Given the description of an element on the screen output the (x, y) to click on. 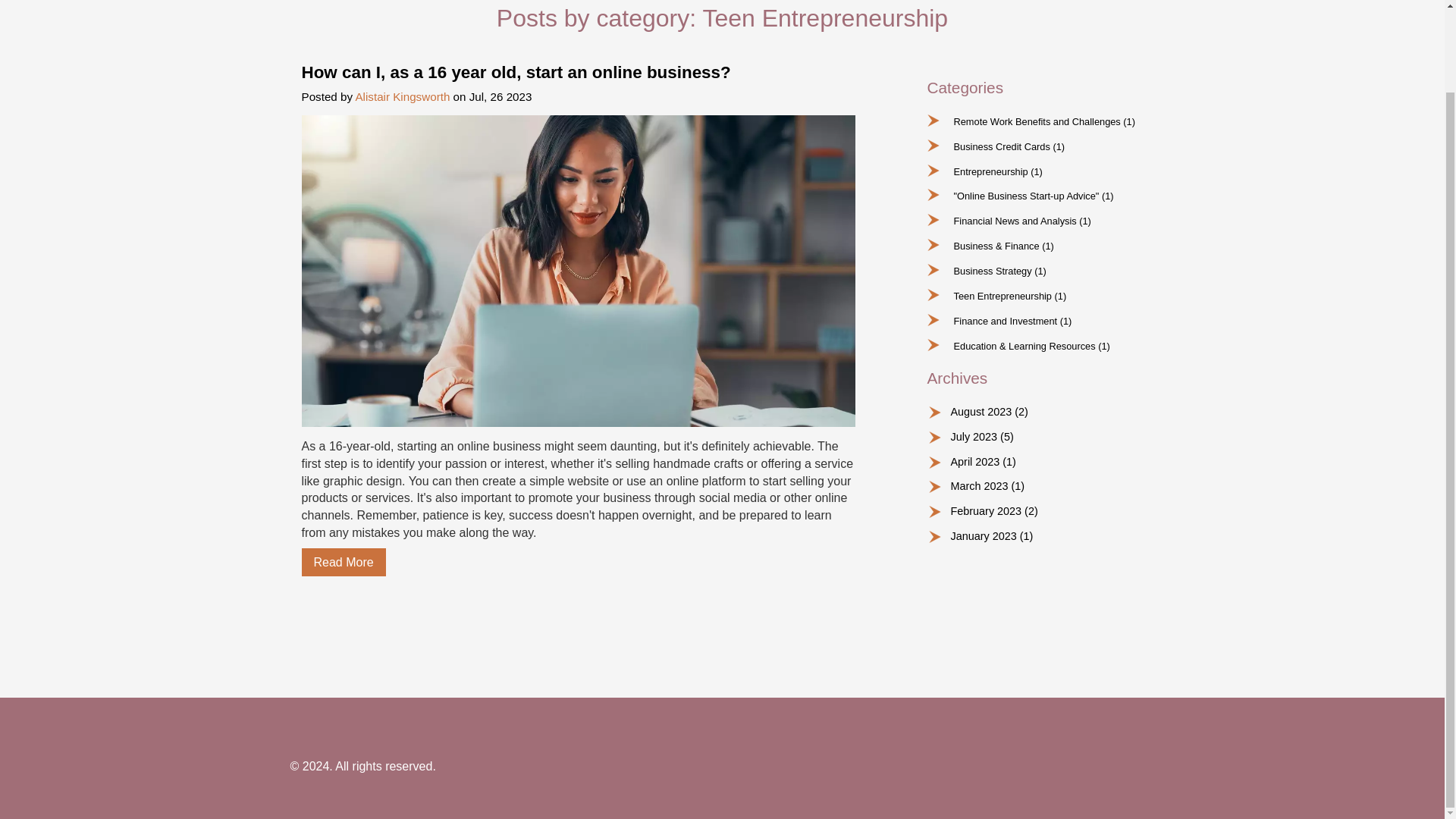
How can I, as a 16 year old, start an online business? (343, 561)
How can I, as a 16 year old, start an online business? (578, 72)
Read More (343, 561)
Alistair Kingsworth (402, 96)
